Given the description of an element on the screen output the (x, y) to click on. 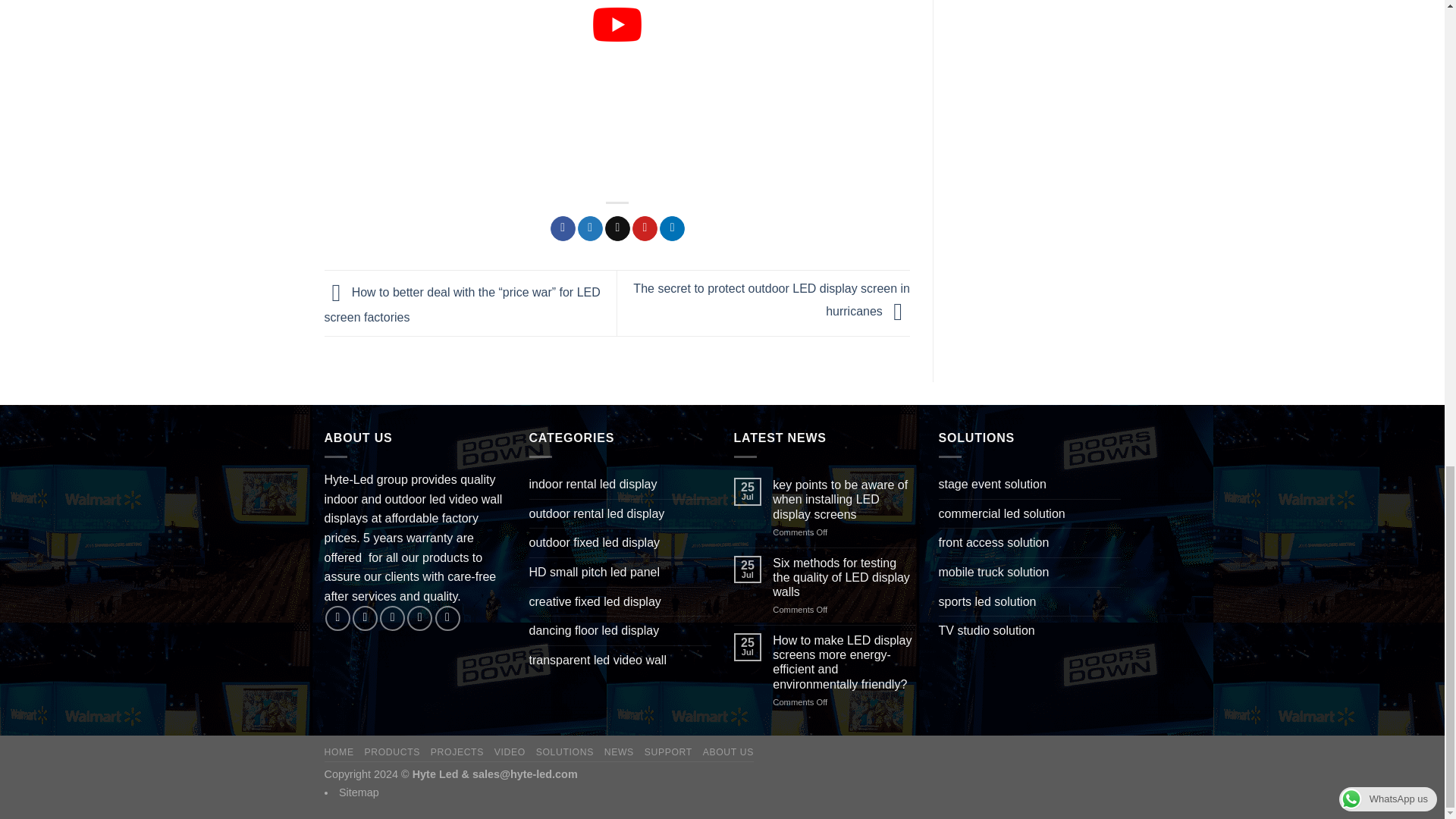
Email to a Friend (617, 228)
Share on Facebook (562, 228)
Share on Twitter (590, 228)
